Given the description of an element on the screen output the (x, y) to click on. 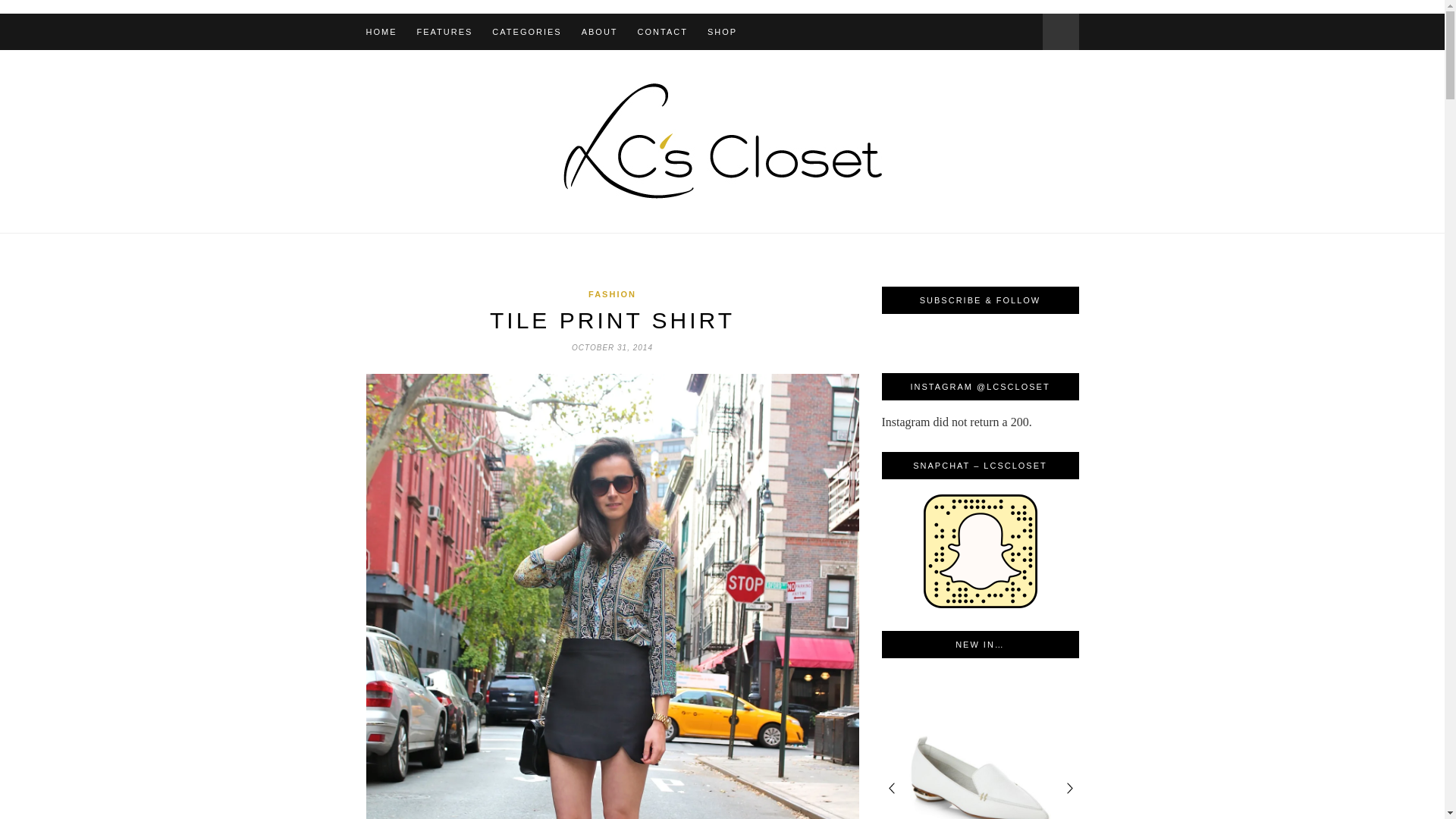
FEATURES (444, 31)
CATEGORIES (526, 31)
CONTACT (662, 31)
ABOUT (598, 31)
View all posts in Fashion (612, 293)
